Given the description of an element on the screen output the (x, y) to click on. 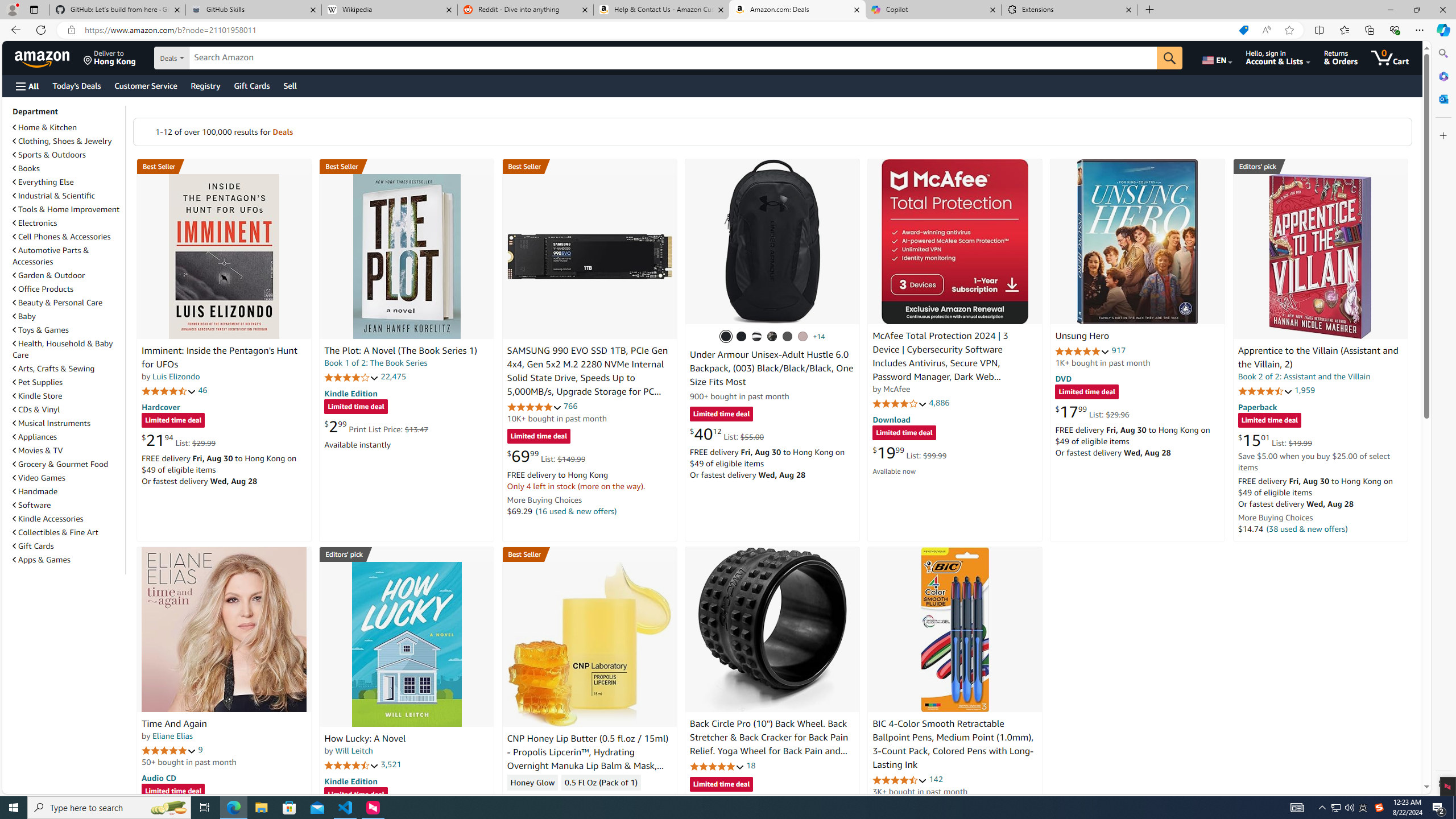
1,959 (1305, 390)
Best Seller in Heist Thrillers (406, 165)
Clothing, Shoes & Jewelry (67, 140)
Collectibles & Fine Art (56, 532)
Best Seller in Unexplained Mysteries (223, 165)
46 (203, 390)
+14 (818, 336)
(003) Black / Black / Black (725, 336)
Everything Else (67, 181)
Movies & TV (67, 450)
Beauty & Personal Care (58, 302)
(015) Tetra Gray / Tetra Gray / Gray Matter (802, 336)
4.2 out of 5 stars (352, 377)
(004) Black / Black / Metallic Gold (772, 336)
GitHub Skills (253, 9)
